Given the description of an element on the screen output the (x, y) to click on. 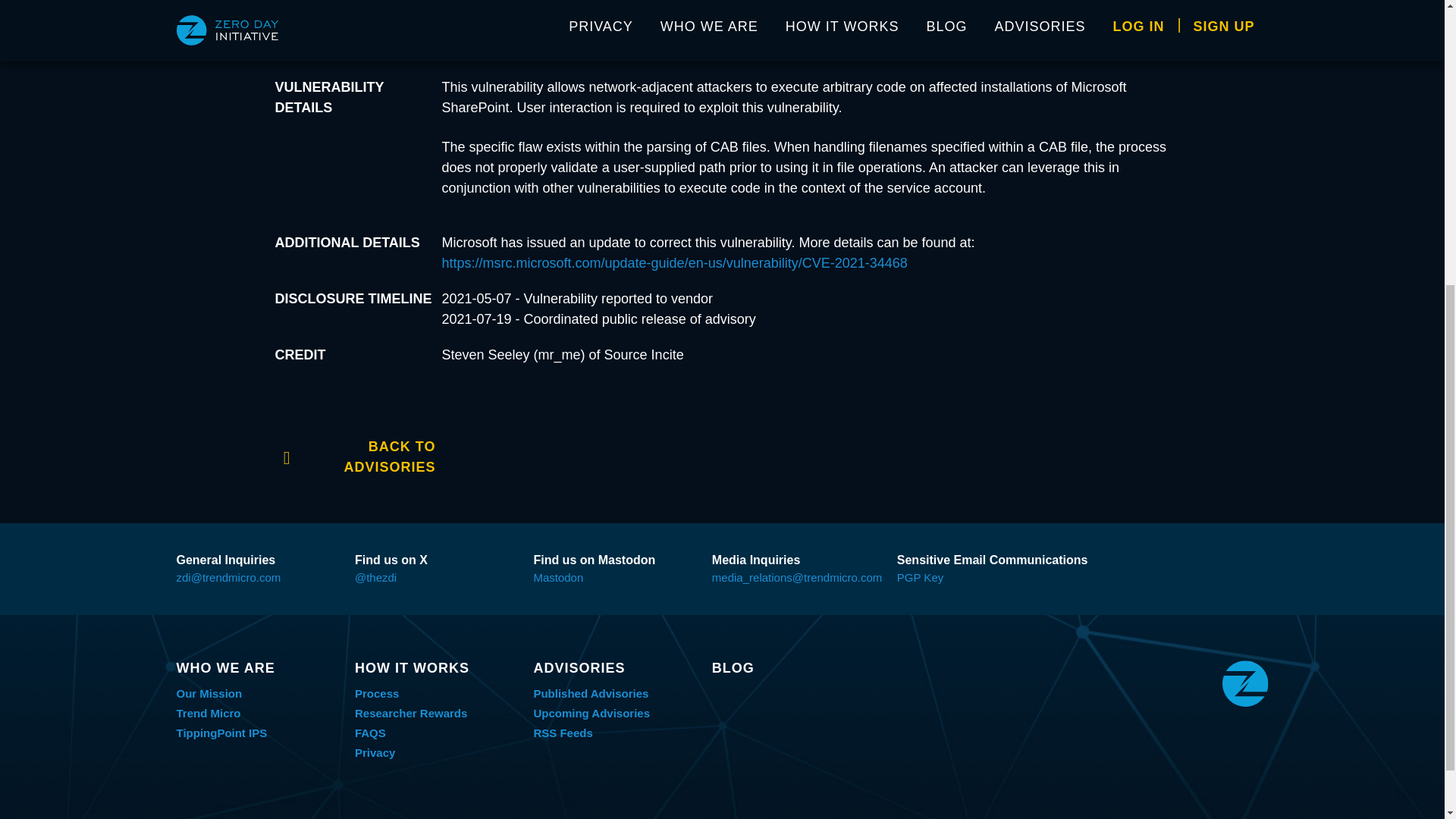
Process (376, 693)
Published Advisories (589, 693)
WHO WE ARE (257, 668)
Upcoming Advisories (590, 712)
ADVISORIES (614, 668)
Researcher Rewards (411, 712)
RSS Feeds (562, 732)
FAQS (370, 732)
Our Mission (208, 693)
BACK TO ADVISORIES (355, 455)
